Given the description of an element on the screen output the (x, y) to click on. 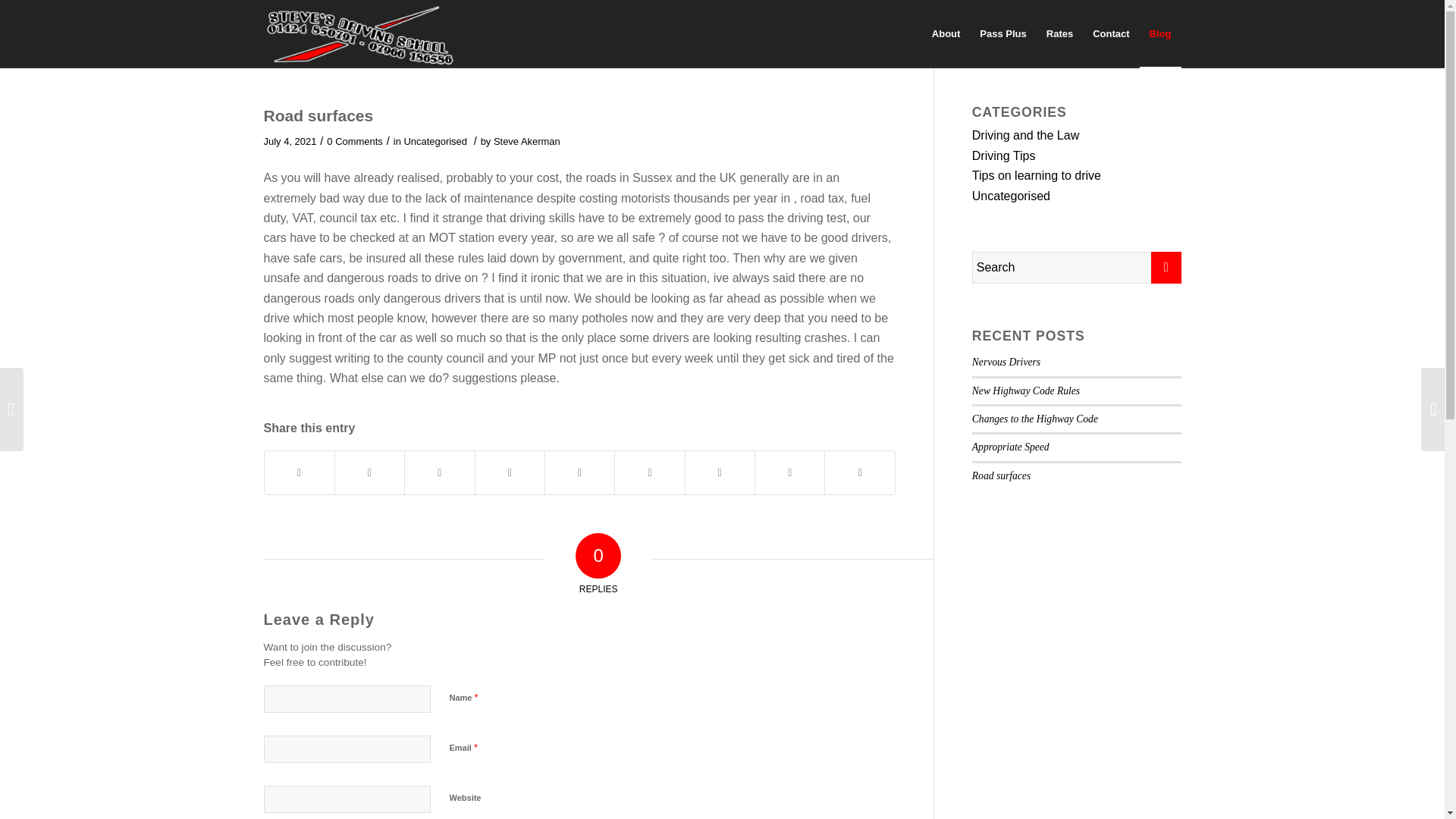
Posts by Steve Akerman (526, 141)
Uncategorised (1010, 195)
Nervous Drivers (1006, 361)
Permanent Link: Road surfaces (318, 115)
Driving Tips (1003, 155)
Uncategorised (435, 141)
Tips on learning to drive (1036, 174)
Pass Plus (1002, 33)
Road surfaces (318, 115)
Changes to the Highway Code (1034, 419)
